Given the description of an element on the screen output the (x, y) to click on. 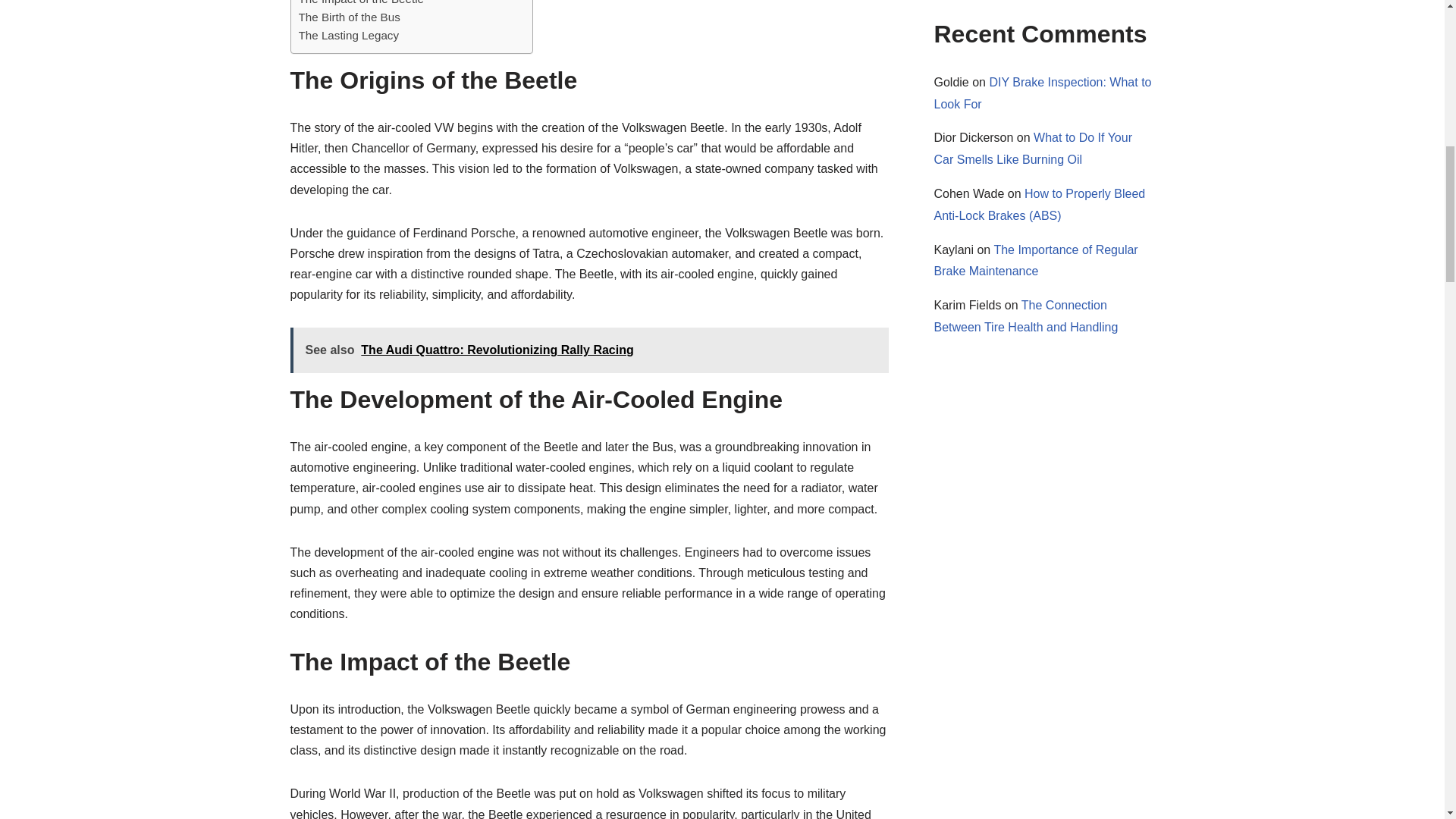
The Lasting Legacy (348, 35)
The Impact of the Beetle (360, 4)
The Birth of the Bus (349, 17)
